Given the description of an element on the screen output the (x, y) to click on. 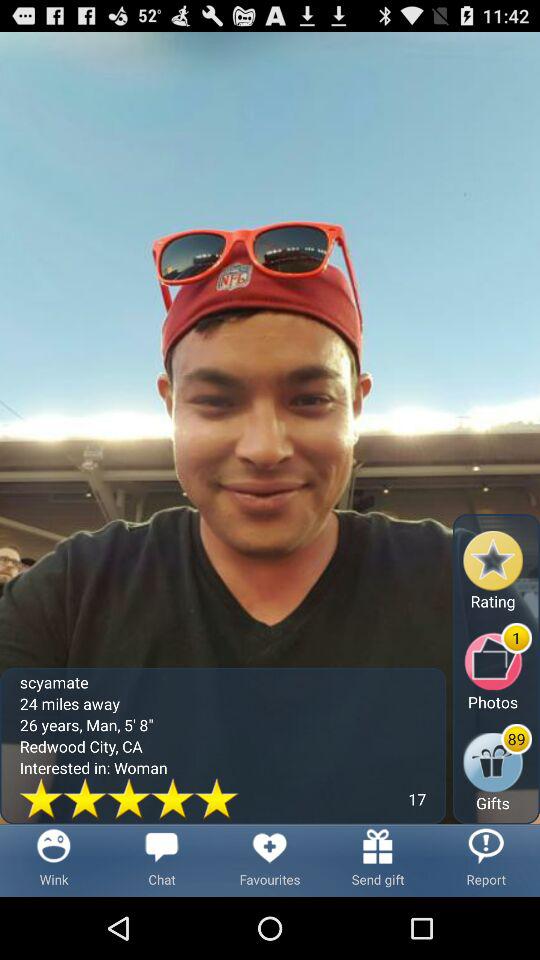
turn off item above the gifts item (498, 666)
